Given the description of an element on the screen output the (x, y) to click on. 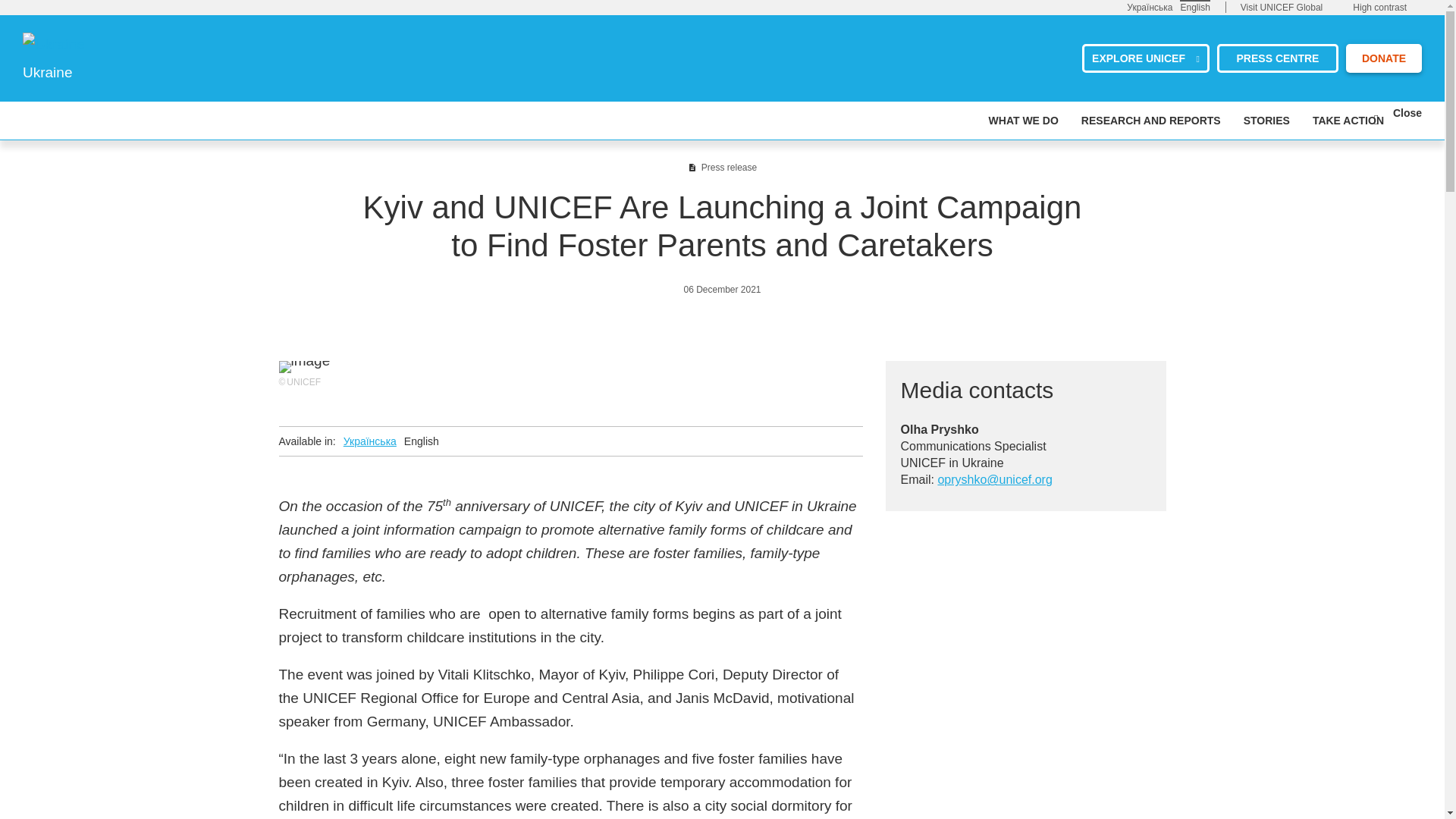
DONATE (1383, 58)
RESEARCH AND REPORTS (1151, 120)
TAKE ACTION (1348, 120)
WHAT WE DO (1023, 120)
EXPLORE UNICEF (1145, 58)
Visit UNICEF Global (1281, 7)
PRESS CENTRE (1277, 58)
UNICEF (53, 43)
STORIES (1266, 120)
